Given the description of an element on the screen output the (x, y) to click on. 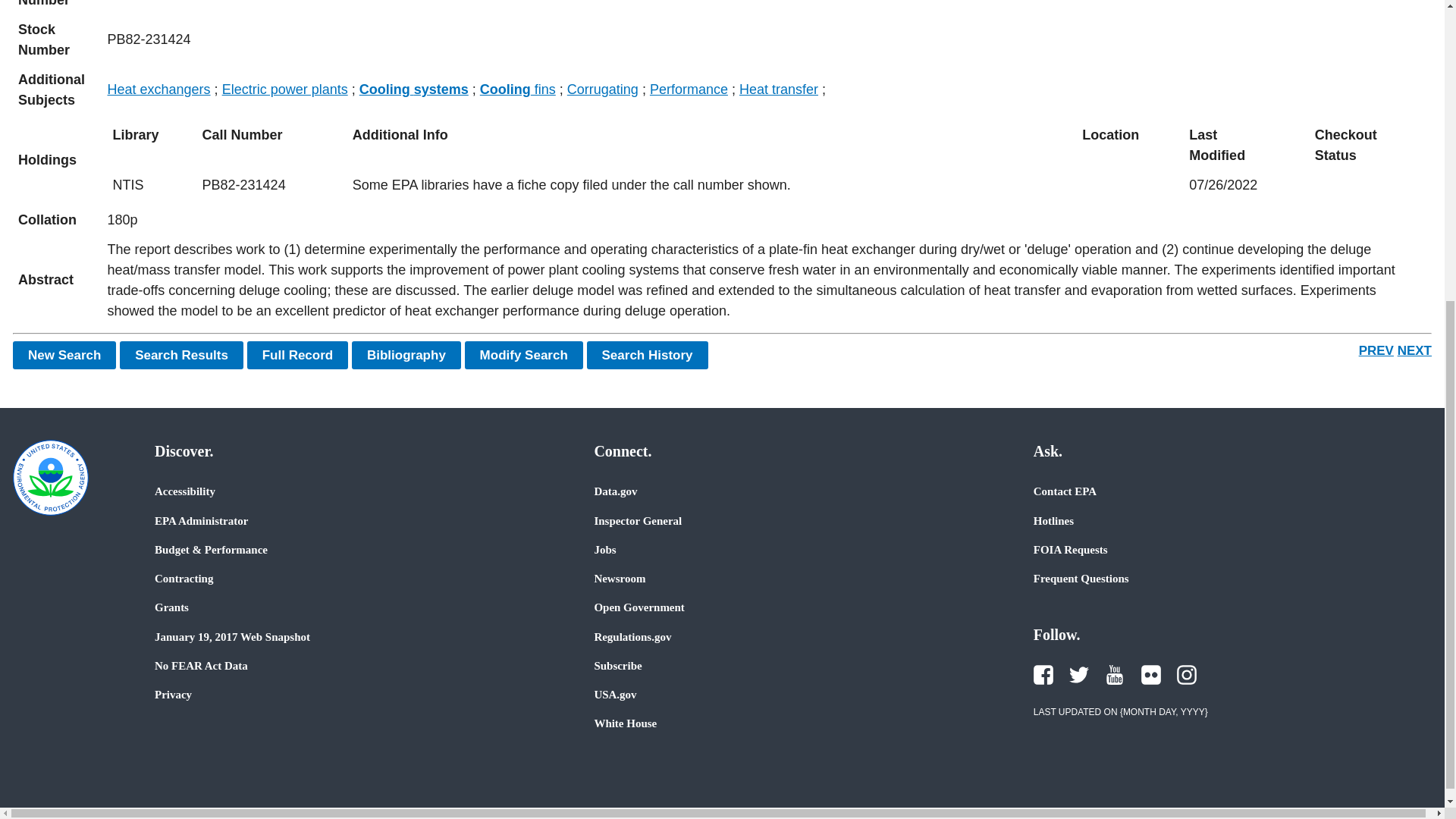
Show results in standard format (181, 355)
Grants (171, 607)
full length text available by clicking full record (766, 280)
Accessibility (184, 490)
Performance (688, 89)
Modify Search (523, 355)
NEXT (1414, 350)
Corrugating (603, 89)
Create a New Search (64, 355)
Newsroom (619, 578)
Contracting (183, 578)
Heat exchangers (159, 89)
PREV (1375, 350)
Search Results (181, 355)
No FEAR Act Data (200, 665)
